Given the description of an element on the screen output the (x, y) to click on. 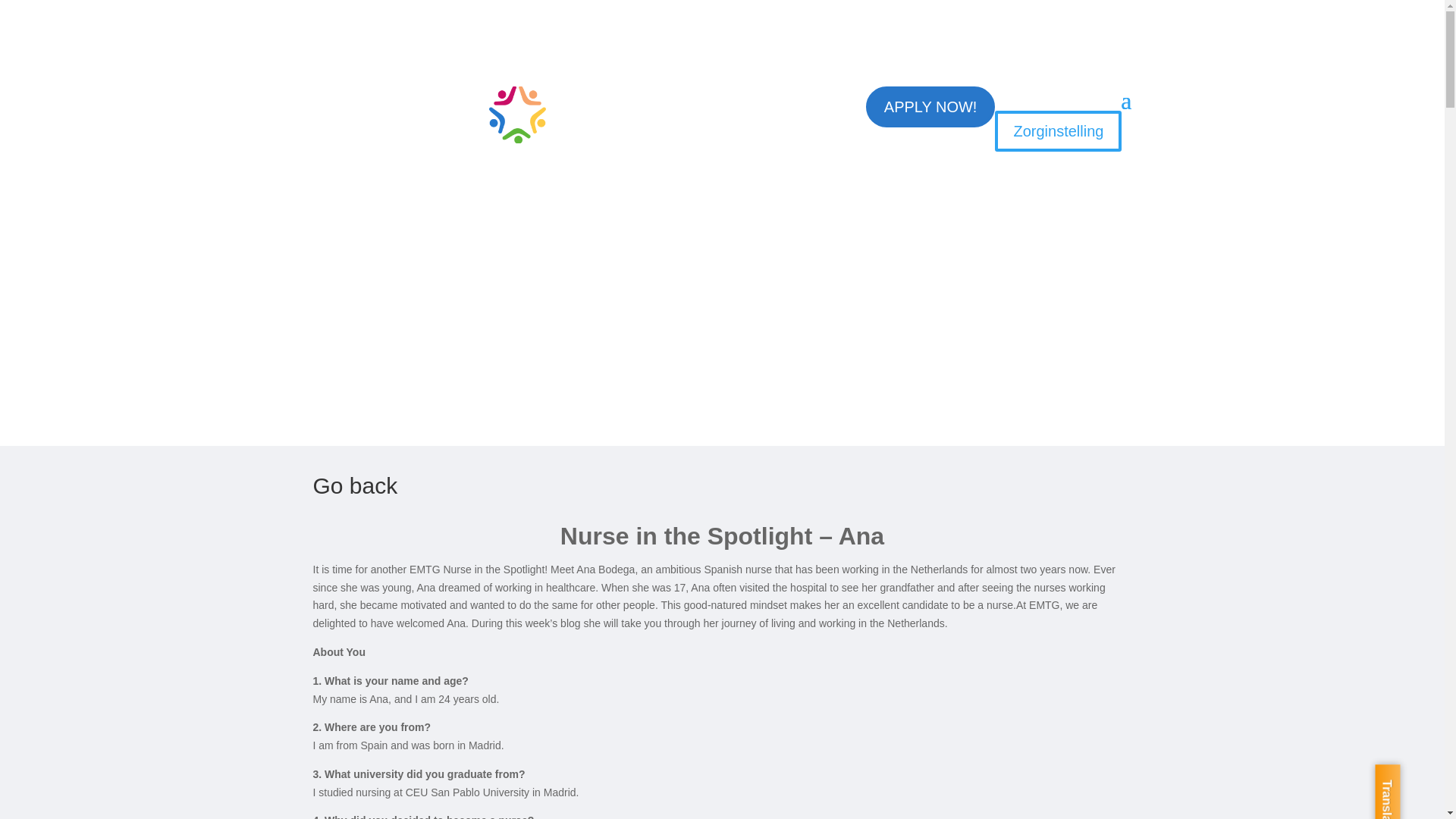
Volg op Youtube (824, 98)
Volg op LinkedIn (794, 98)
Volg op TikTok (733, 128)
Zorginstelling (1057, 130)
Volg op Facebook (733, 98)
APPLY NOW! (930, 106)
Go back (355, 485)
cropped-color-icon-.png (517, 114)
Volg op Instagram (764, 98)
